Given the description of an element on the screen output the (x, y) to click on. 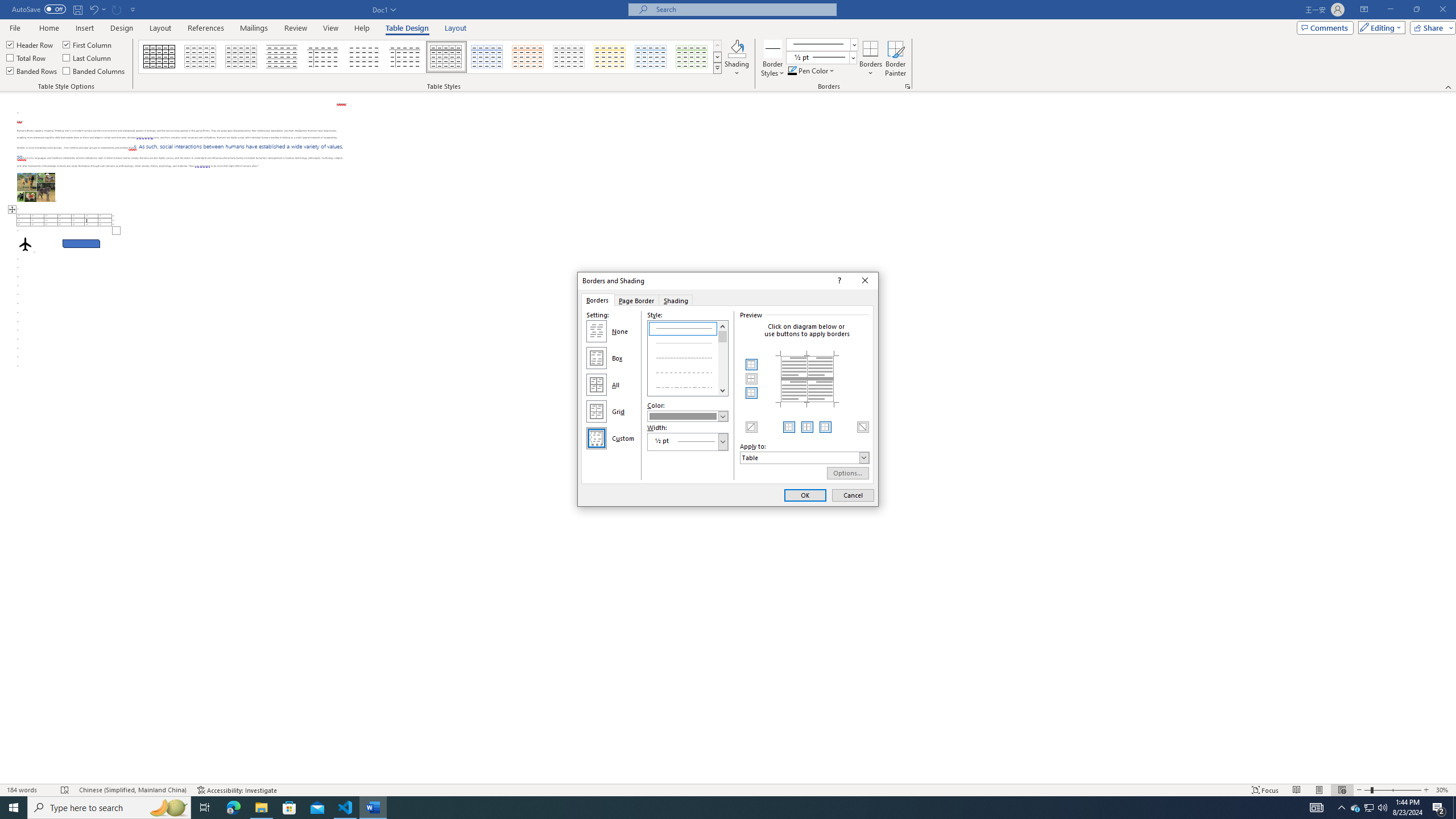
Banded Rows (32, 69)
Shading (737, 58)
Editing (1379, 27)
View (330, 28)
Borders (596, 299)
Options... (848, 472)
Pen Weight (821, 56)
Plain Table 5 (405, 56)
File Tab (15, 27)
Task View (204, 807)
Dash dot (687, 386)
Ribbon Display Options (1364, 9)
AutomationID: 37 (722, 358)
Border Color (Text 1) (687, 415)
First Column (88, 44)
